Given the description of an element on the screen output the (x, y) to click on. 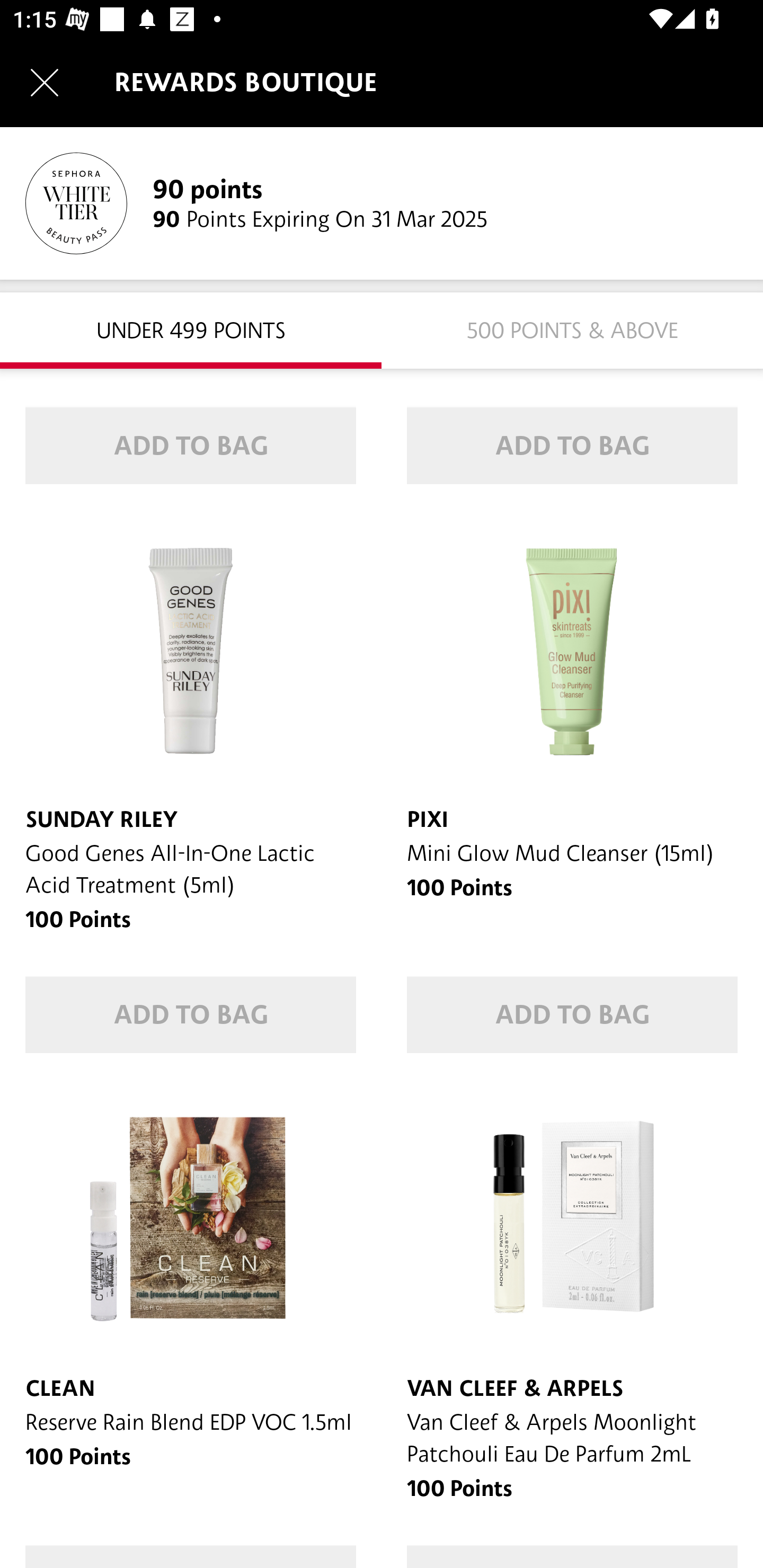
Navigate up (44, 82)
500 Points & Above 500 POINTS & ABOVE (572, 329)
ADD TO BAG (190, 445)
ADD TO BAG (571, 445)
ADD TO BAG (190, 1014)
ADD TO BAG (571, 1014)
